Given the description of an element on the screen output the (x, y) to click on. 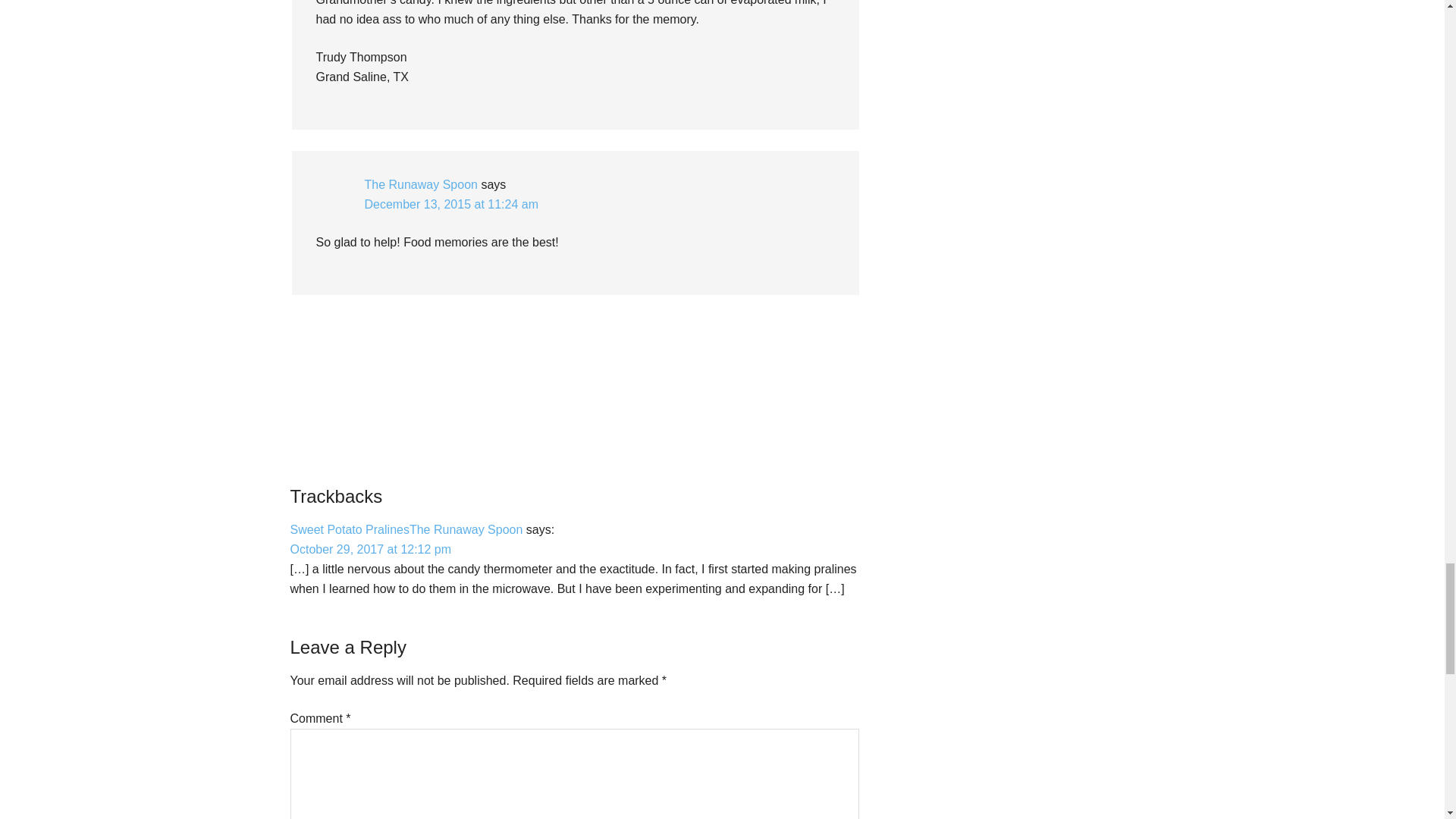
December 13, 2015 at 11:24 am (450, 204)
The Runaway Spoon (420, 184)
